Given the description of an element on the screen output the (x, y) to click on. 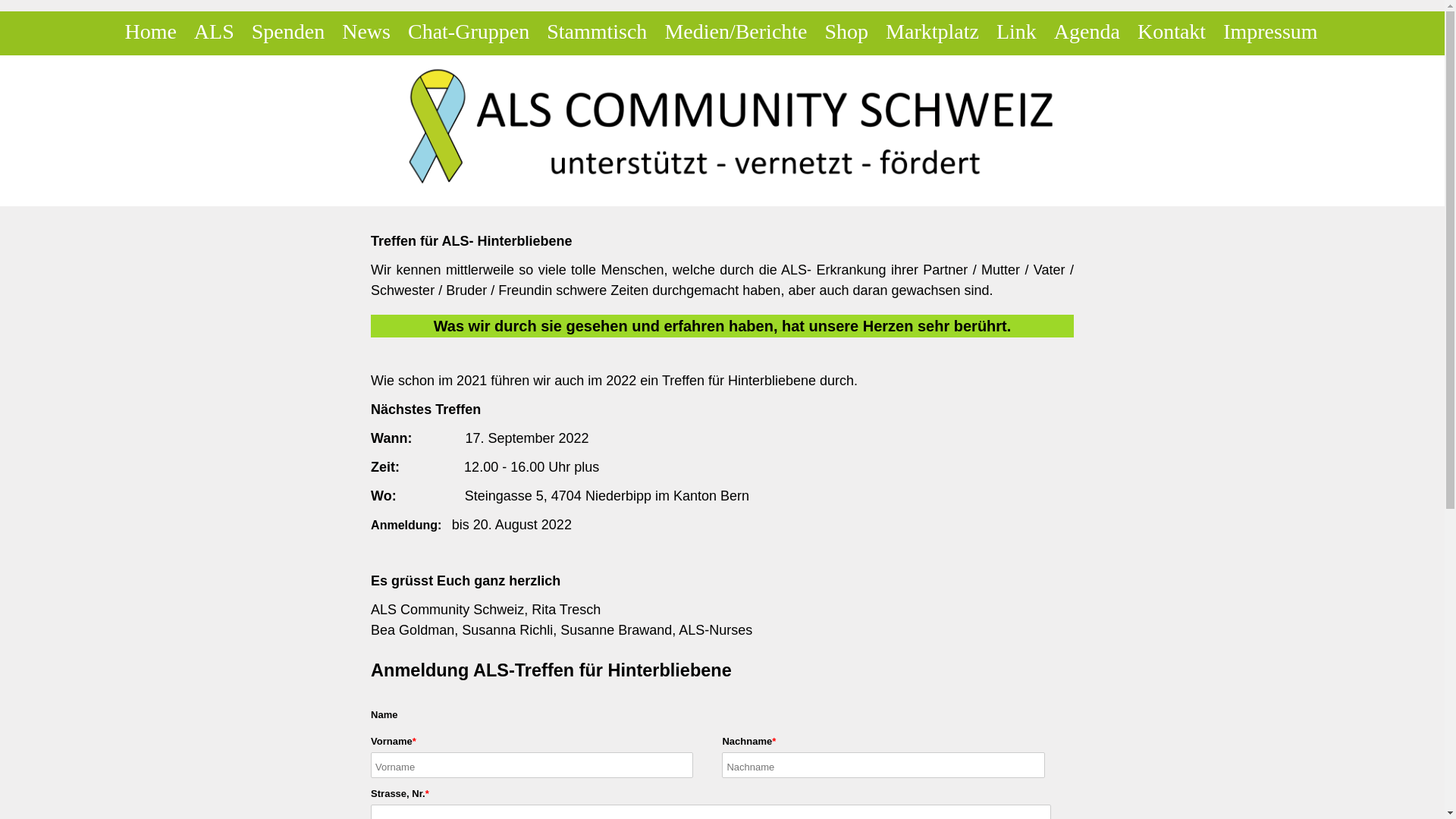
Medien/Berichte Element type: text (735, 31)
Agenda Element type: text (1086, 31)
Marktplatz Element type: text (932, 31)
Chat-Gruppen Element type: text (468, 31)
Stammtisch Element type: text (596, 31)
ALS Element type: text (213, 31)
Home Element type: text (149, 31)
Impressum Element type: text (1269, 31)
Kontakt Element type: text (1171, 31)
Link Element type: text (1016, 31)
Spenden Element type: text (288, 31)
News Element type: text (366, 31)
Shop Element type: text (846, 31)
